Given the description of an element on the screen output the (x, y) to click on. 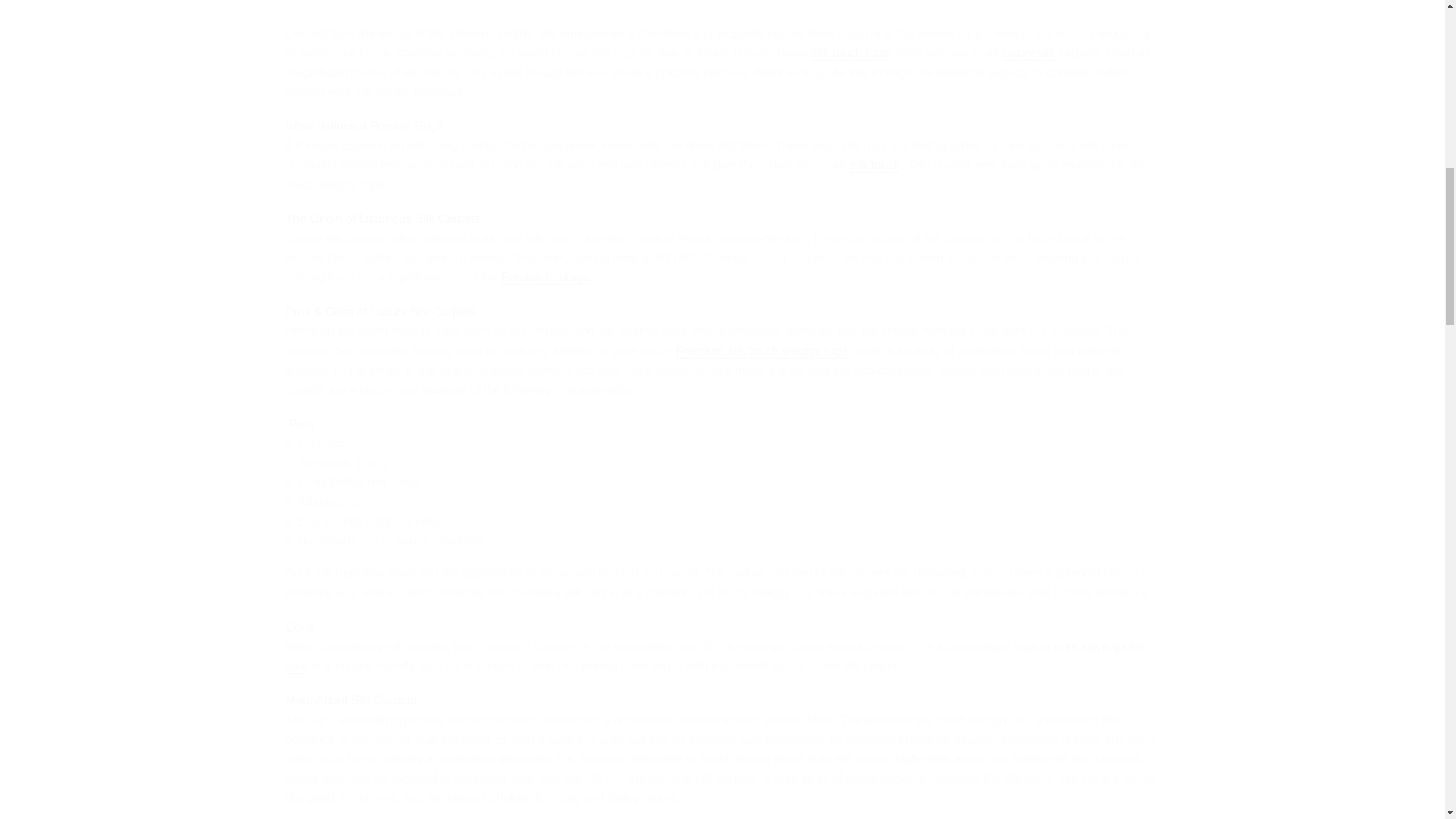
luxury silk (1027, 52)
silk touch (875, 165)
Premium silk touch shaggy rugs (761, 350)
pure silk rugs for sale (713, 656)
Persian heritage (544, 278)
silk touch rugs (849, 52)
